Given the description of an element on the screen output the (x, y) to click on. 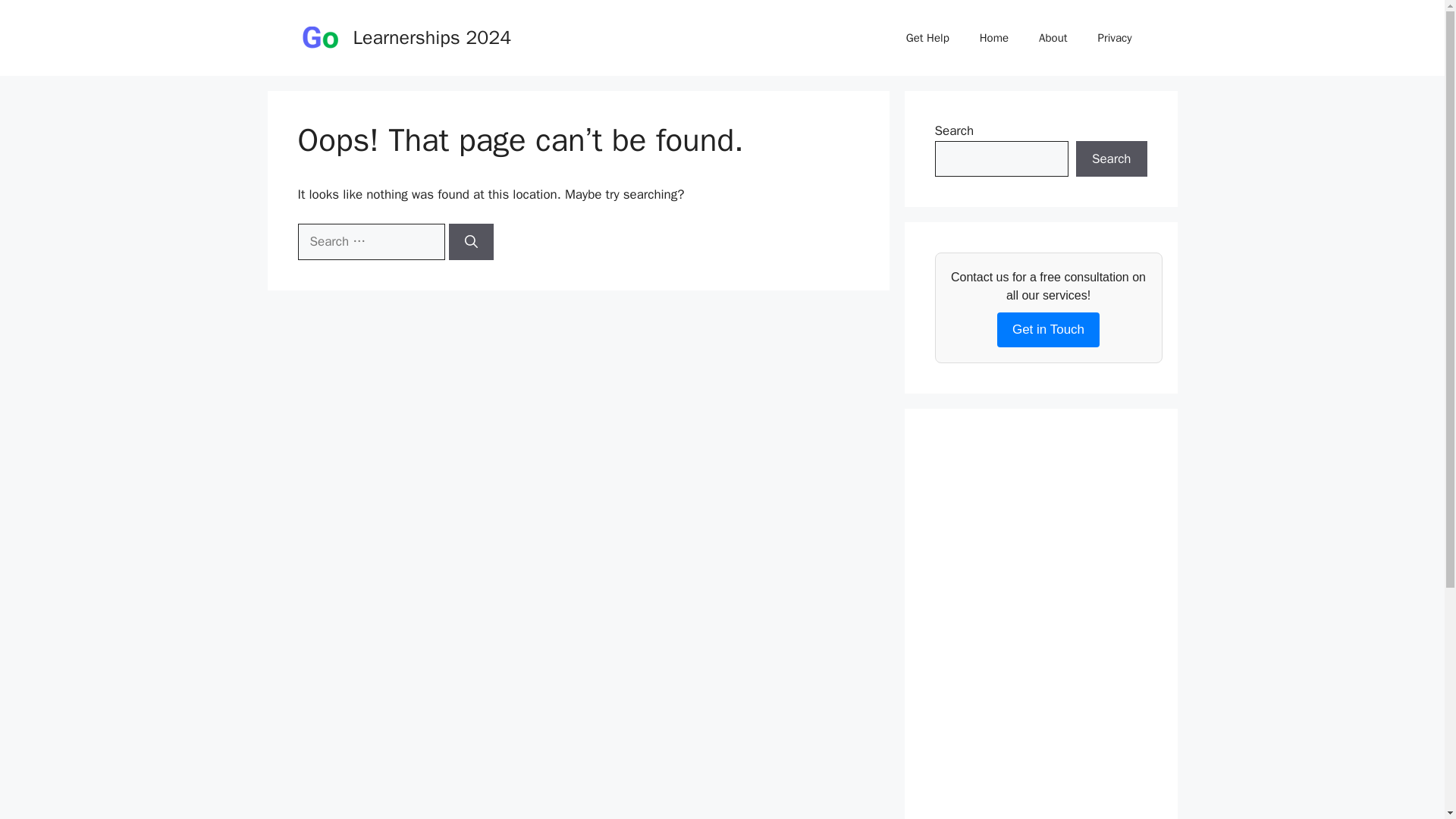
Privacy (1115, 37)
Get Help (927, 37)
Search for: (370, 241)
Home (993, 37)
Search (1111, 158)
Learnerships 2024 (432, 37)
About (1052, 37)
Get in Touch (1048, 329)
